Given the description of an element on the screen output the (x, y) to click on. 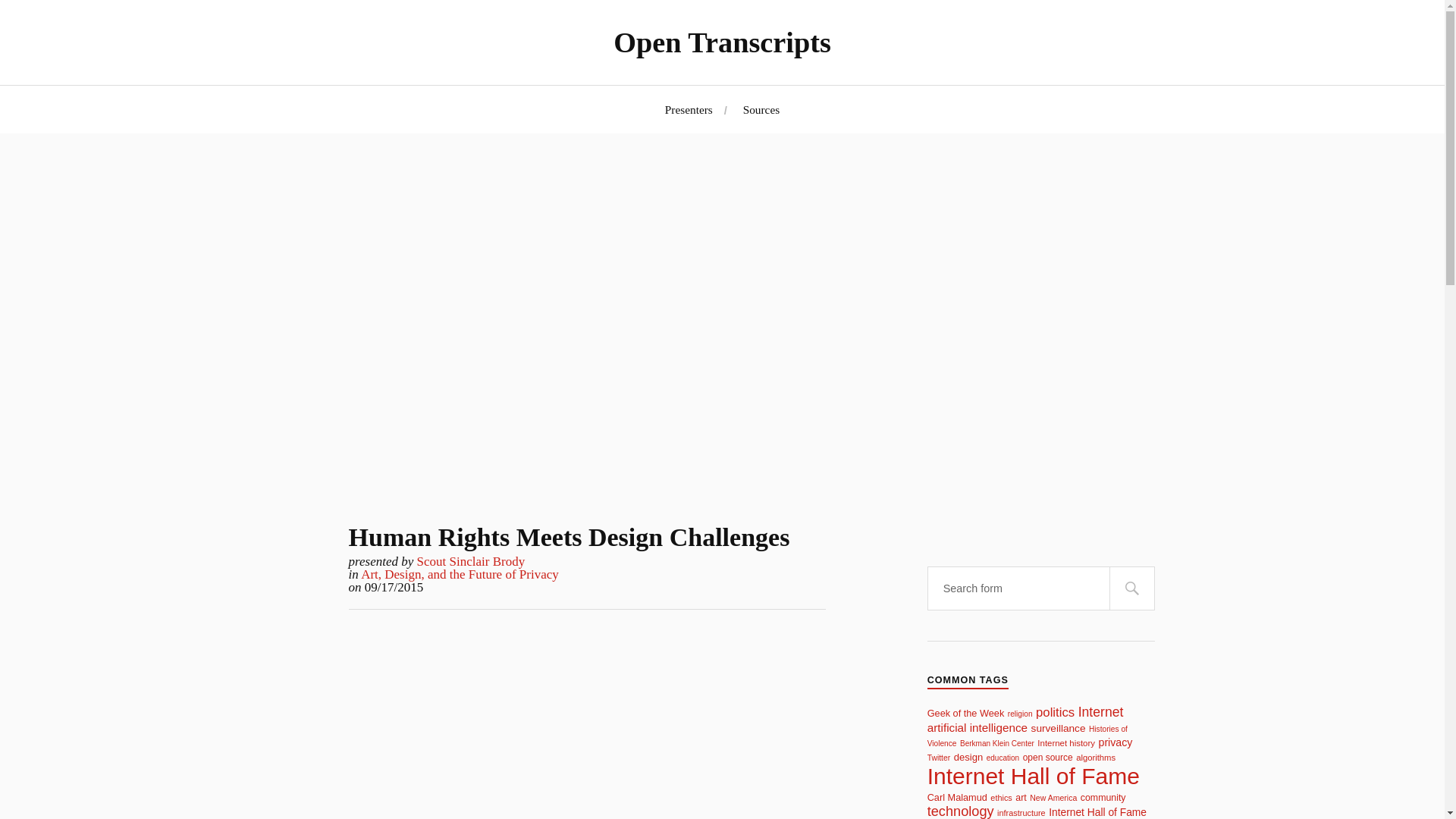
Human Rights Meets Design Challenges (569, 537)
37 topics (1095, 757)
50 topics (1058, 727)
Carl Malamud (957, 797)
59 topics (977, 727)
30 topics (996, 743)
art (1020, 797)
Histories of Violence (1026, 735)
artificial intelligence (977, 727)
politics (1054, 712)
